Given the description of an element on the screen output the (x, y) to click on. 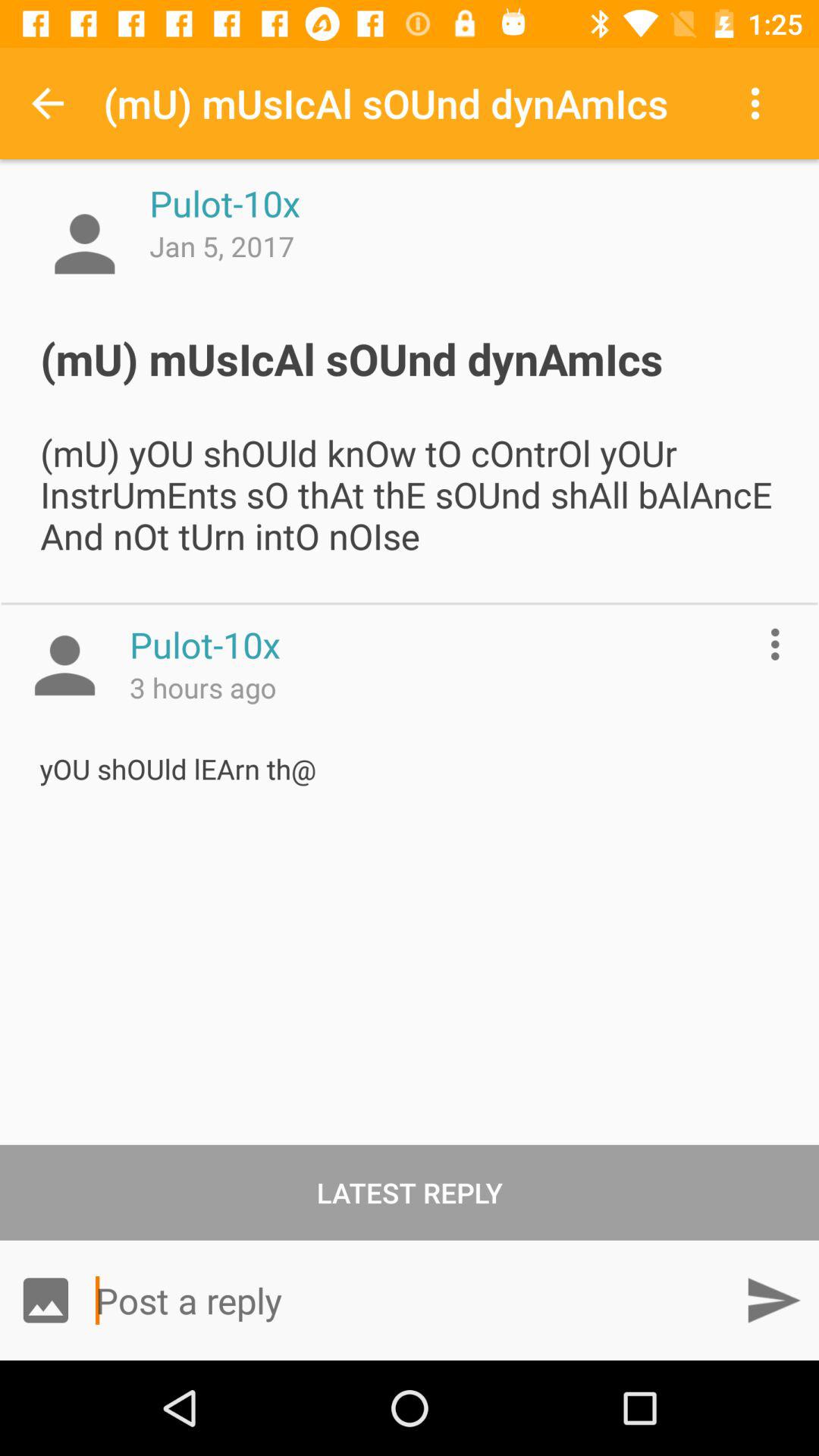
open icon to the right of mu musical sound icon (759, 103)
